Given the description of an element on the screen output the (x, y) to click on. 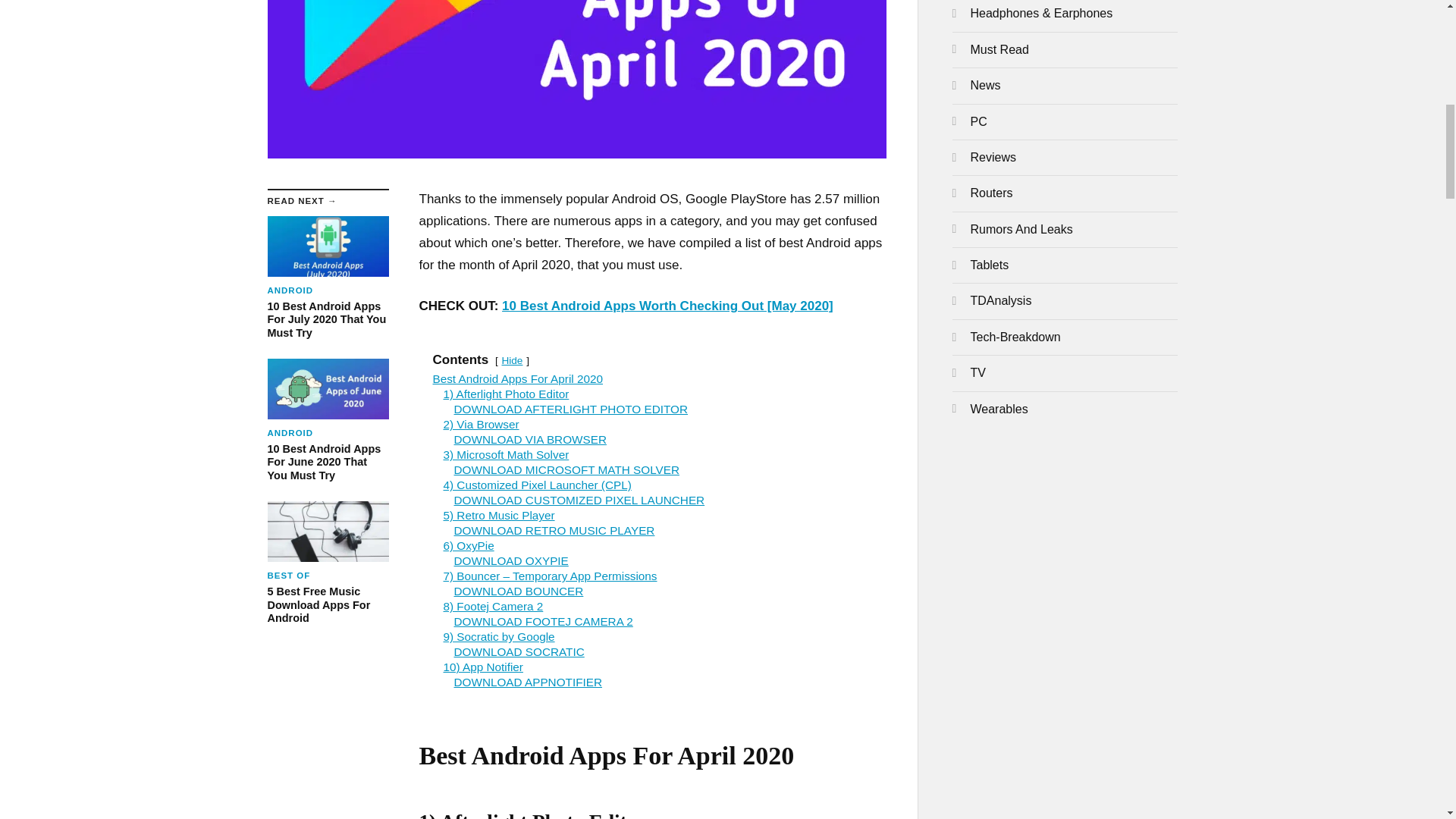
DOWNLOAD CUSTOMIZED PIXEL LAUNCHER (578, 499)
DOWNLOAD MICROSOFT MATH SOLVER (565, 469)
DOWNLOAD VIA BROWSER (327, 420)
DOWNLOAD AFTERLIGHT PHOTO EDITOR (528, 439)
Hide (569, 408)
Best Android Apps For April 2020 (327, 562)
